Given the description of an element on the screen output the (x, y) to click on. 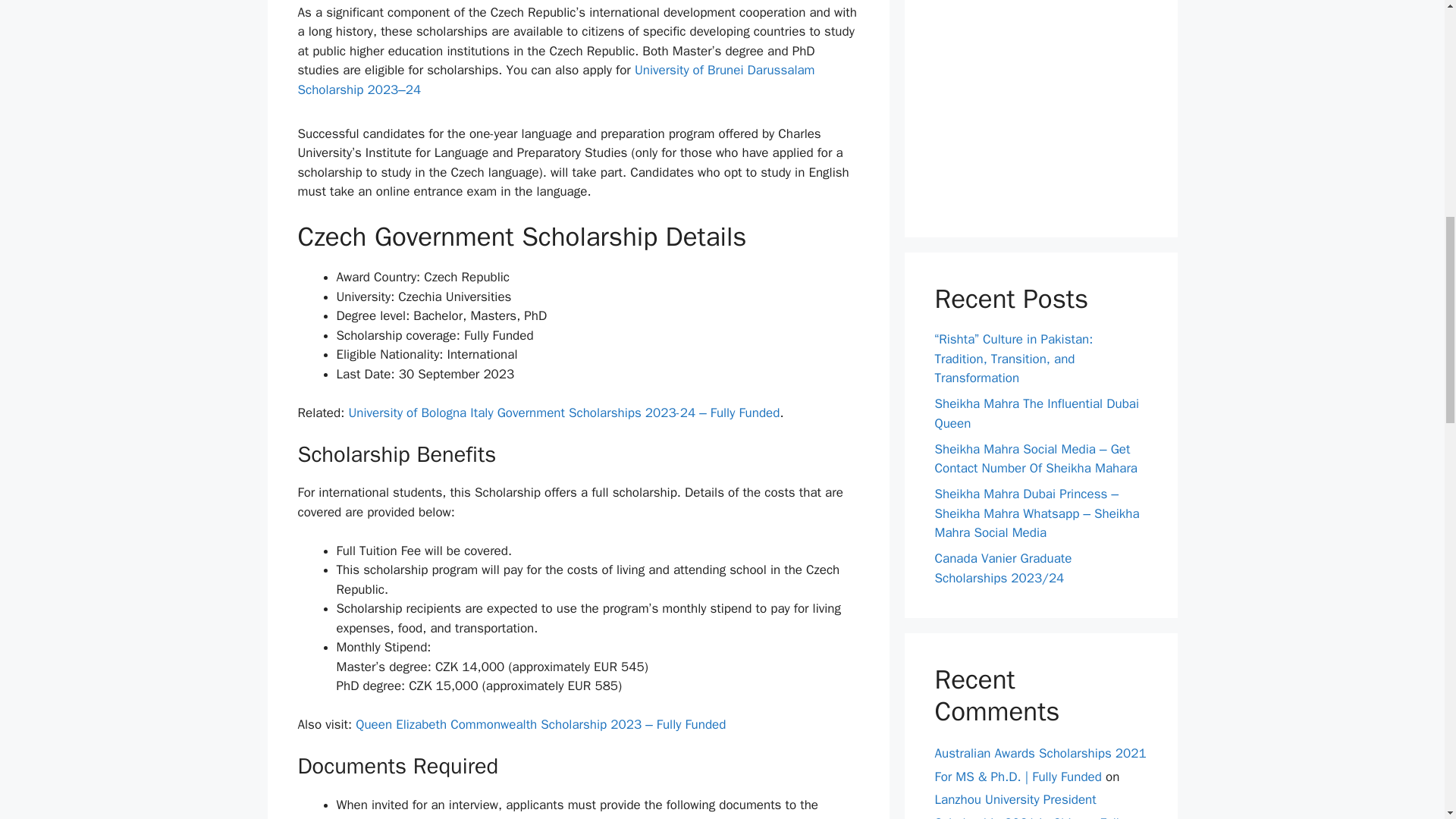
Advertisement (1040, 103)
